Given the description of an element on the screen output the (x, y) to click on. 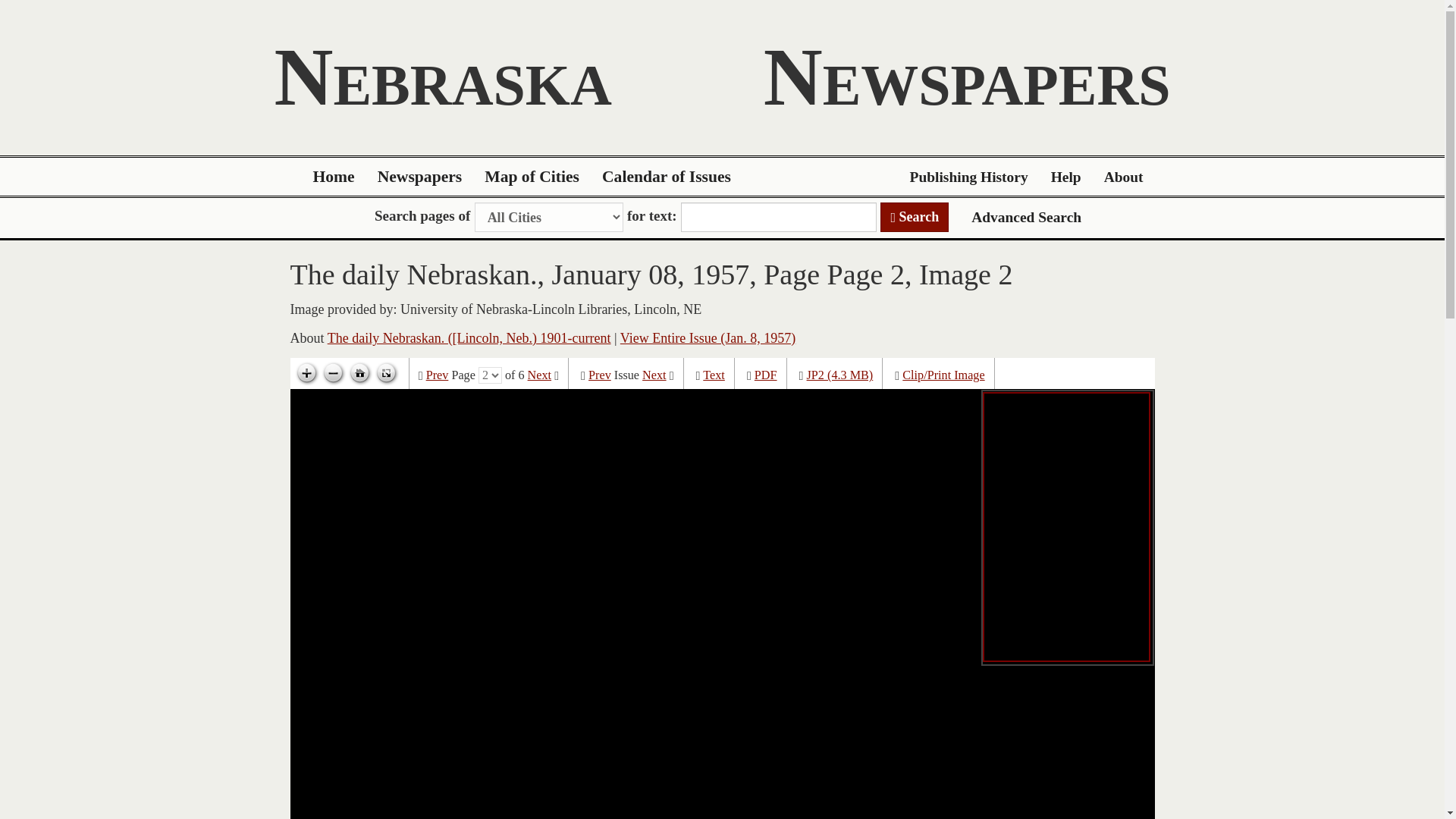
Calendar of Issues (666, 176)
Next (539, 375)
Newspapers (420, 176)
Zoom out (333, 373)
Text (714, 375)
Map of Cities (532, 176)
Next (653, 375)
Toggle full page (385, 373)
Publishing History (968, 176)
Go home (359, 373)
Prev (599, 375)
Prev (437, 375)
Zoom in (307, 373)
About (1123, 176)
Help (1066, 176)
